Given the description of an element on the screen output the (x, y) to click on. 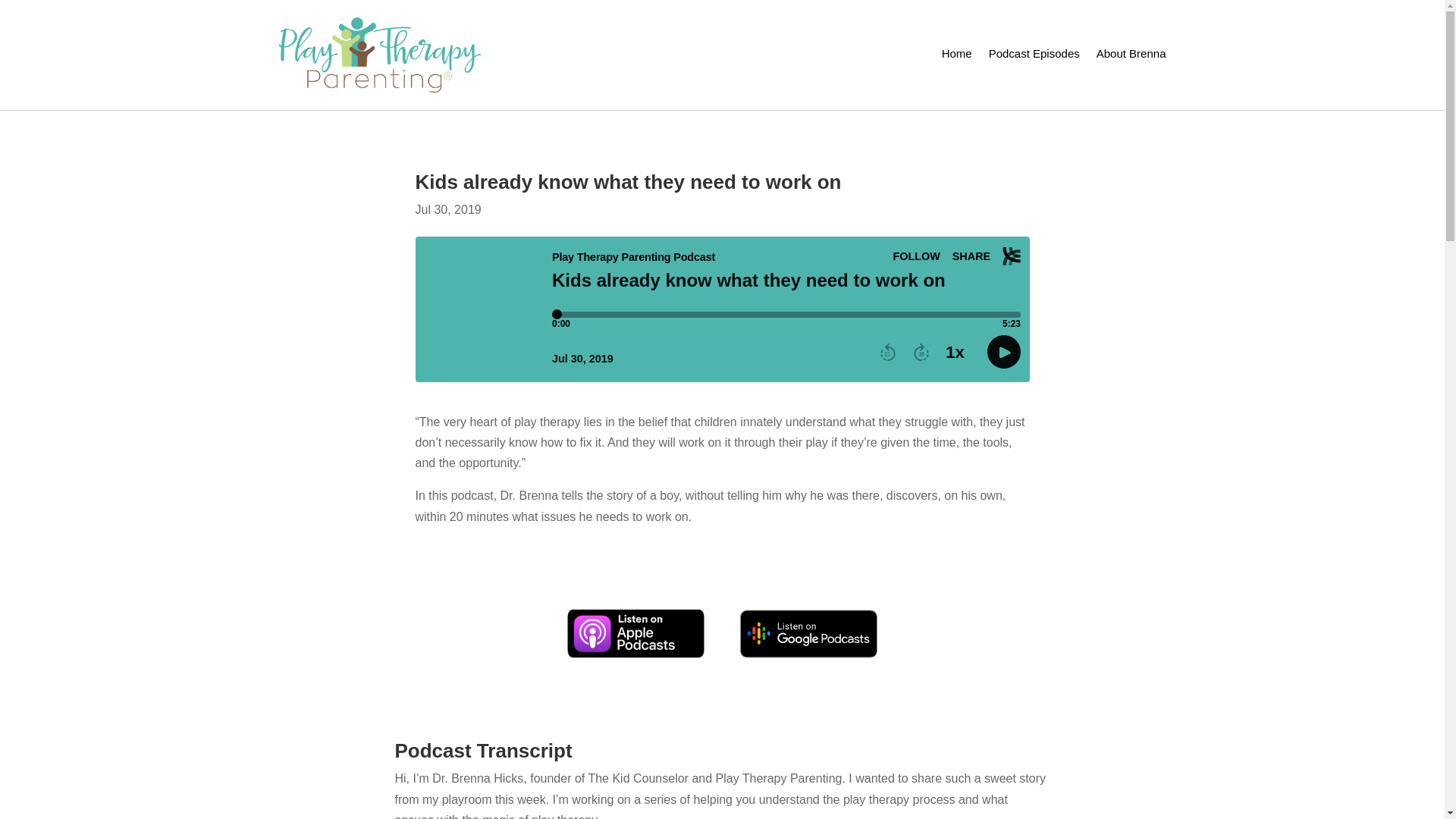
Embed Player (721, 312)
Home (957, 56)
Podcast Episodes (1034, 56)
google-podcasts (807, 634)
listen-on-apple (635, 634)
About Brenna (1131, 56)
Play Therapy Parenting logo (379, 54)
